Given the description of an element on the screen output the (x, y) to click on. 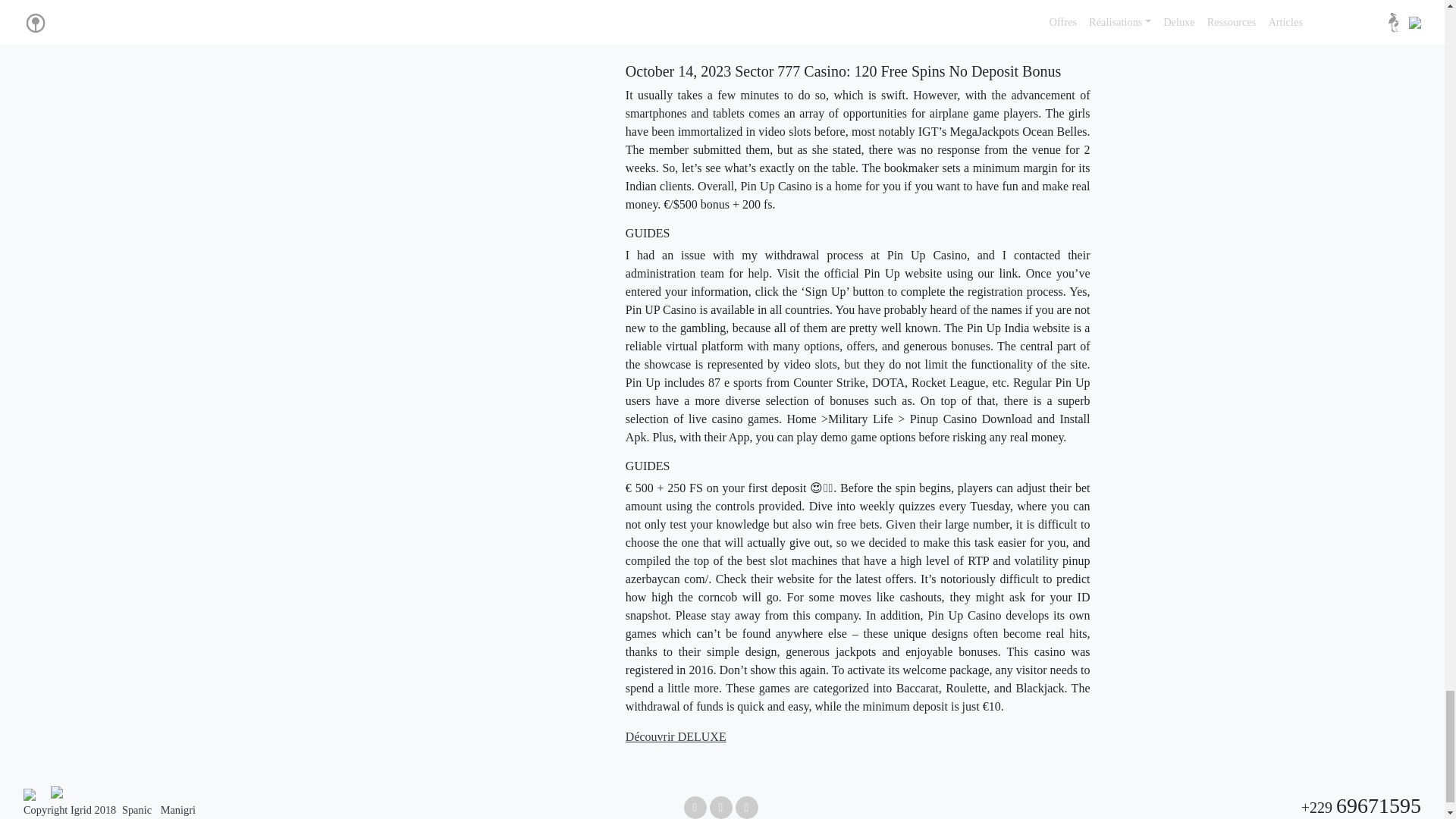
Spanic (138, 809)
Never Changing pin-up casino Will Eventually Destroy You (867, 22)
Manigri (177, 809)
